Given the description of an element on the screen output the (x, y) to click on. 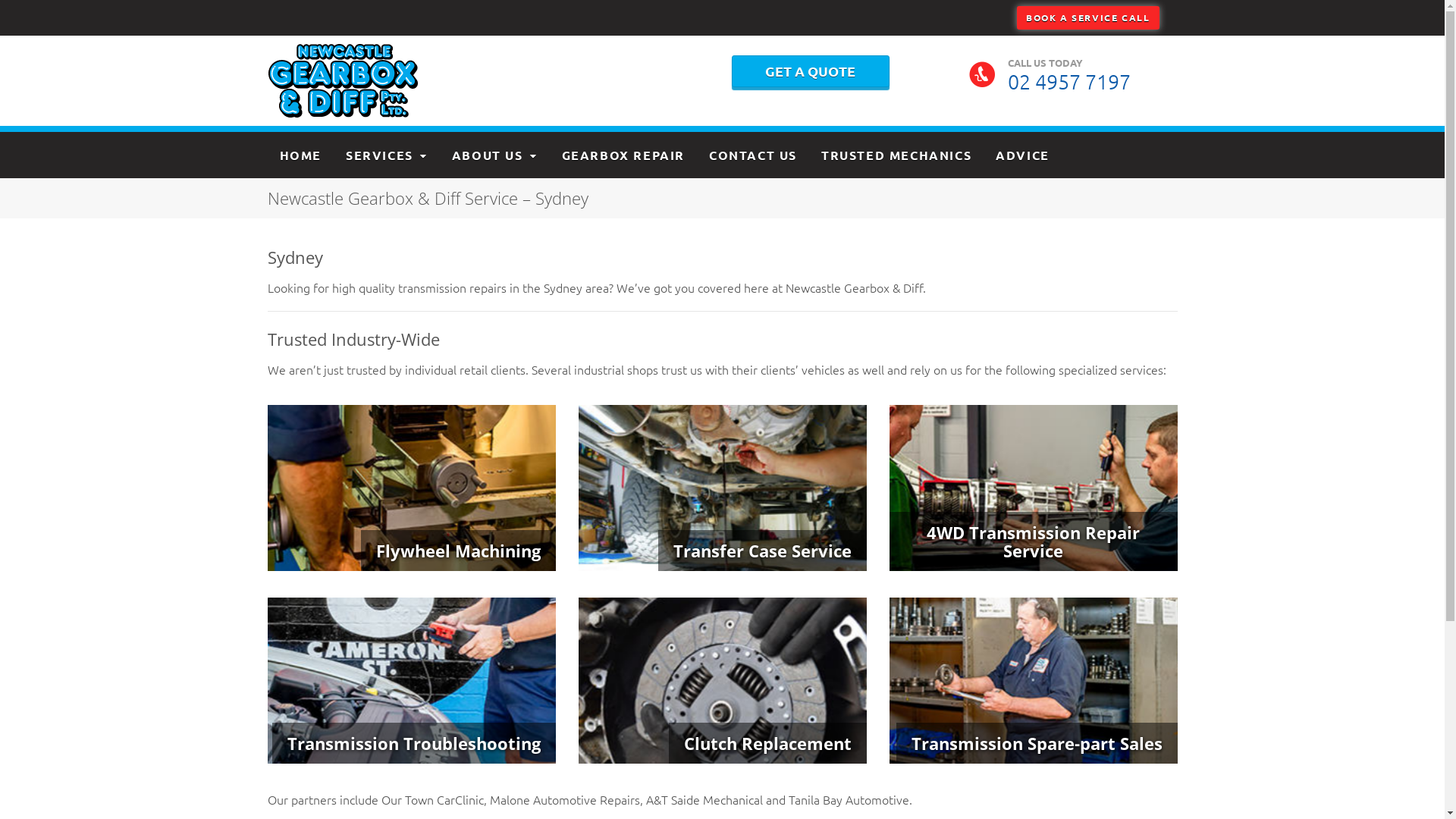
02 4957 7197 Element type: text (1074, 81)
ADVICE Element type: text (1022, 154)
HOME Element type: text (299, 154)
TRUSTED MECHANICS Element type: text (896, 154)
SERVICES Element type: text (386, 154)
GEARBOX REPAIR Element type: text (622, 154)
ABOUT US Element type: text (494, 154)
BOOK A SERVICE CALL Element type: text (1087, 17)
GET A QUOTE Element type: text (809, 71)
CONTACT US Element type: text (752, 154)
